Given the description of an element on the screen output the (x, y) to click on. 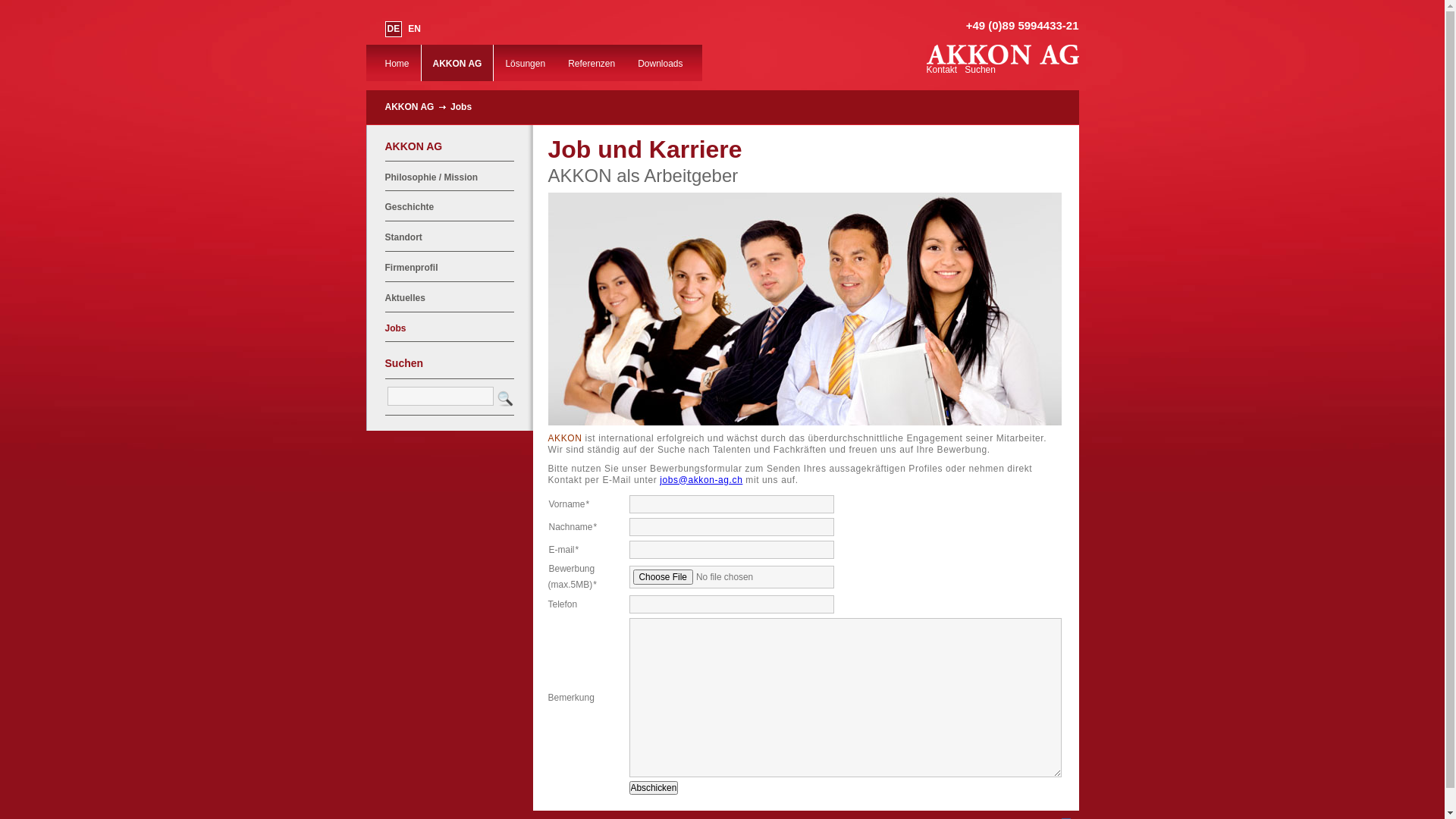
Aktuelles Element type: text (405, 297)
Firmenprofil Element type: text (411, 267)
EN Element type: text (414, 29)
Philosophie / Mission Element type: text (431, 177)
AKKON AG Element type: hover (1002, 61)
Suchen Element type: text (979, 69)
jobs@akkon-ag.ch Element type: text (700, 479)
Referenzen Element type: text (591, 62)
Abschicken Element type: text (653, 787)
Kontakt Element type: text (941, 69)
Home Element type: text (396, 62)
Downloads Element type: text (659, 62)
AKKON AG Element type: text (457, 62)
Geschichte Element type: text (409, 206)
Standort Element type: text (403, 237)
AKKON AG Element type: text (409, 106)
